Given the description of an element on the screen output the (x, y) to click on. 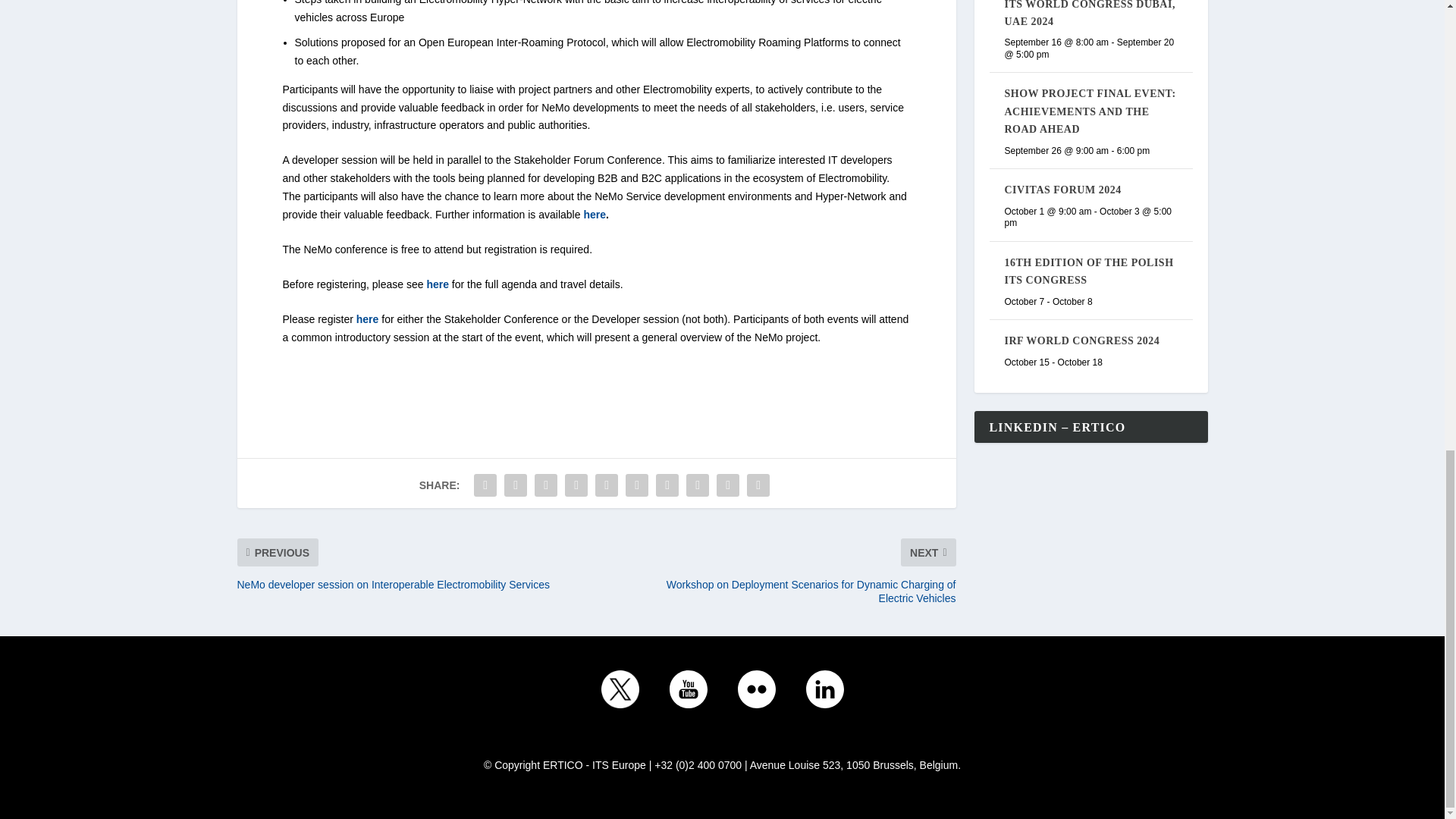
Share "NeMo Stakeholder Forum Conference" via LinkedIn (636, 485)
Share "NeMo Stakeholder Forum Conference" via Email (727, 485)
Share "NeMo Stakeholder Forum Conference" via Pinterest (606, 485)
here (367, 318)
Share "NeMo Stakeholder Forum Conference" via Stumbleupon (697, 485)
Share "NeMo Stakeholder Forum Conference" via Facebook (485, 485)
Share "NeMo Stakeholder Forum Conference" via Tumblr (575, 485)
here (594, 214)
ITS WORLD CONGRESS DUBAI, UAE 2024 (1089, 13)
Share "NeMo Stakeholder Forum Conference" via Print (757, 485)
Share "NeMo Stakeholder Forum Conference" via Twitter (515, 485)
Share "NeMo Stakeholder Forum Conference" via Buffer (667, 485)
here (437, 284)
